Given the description of an element on the screen output the (x, y) to click on. 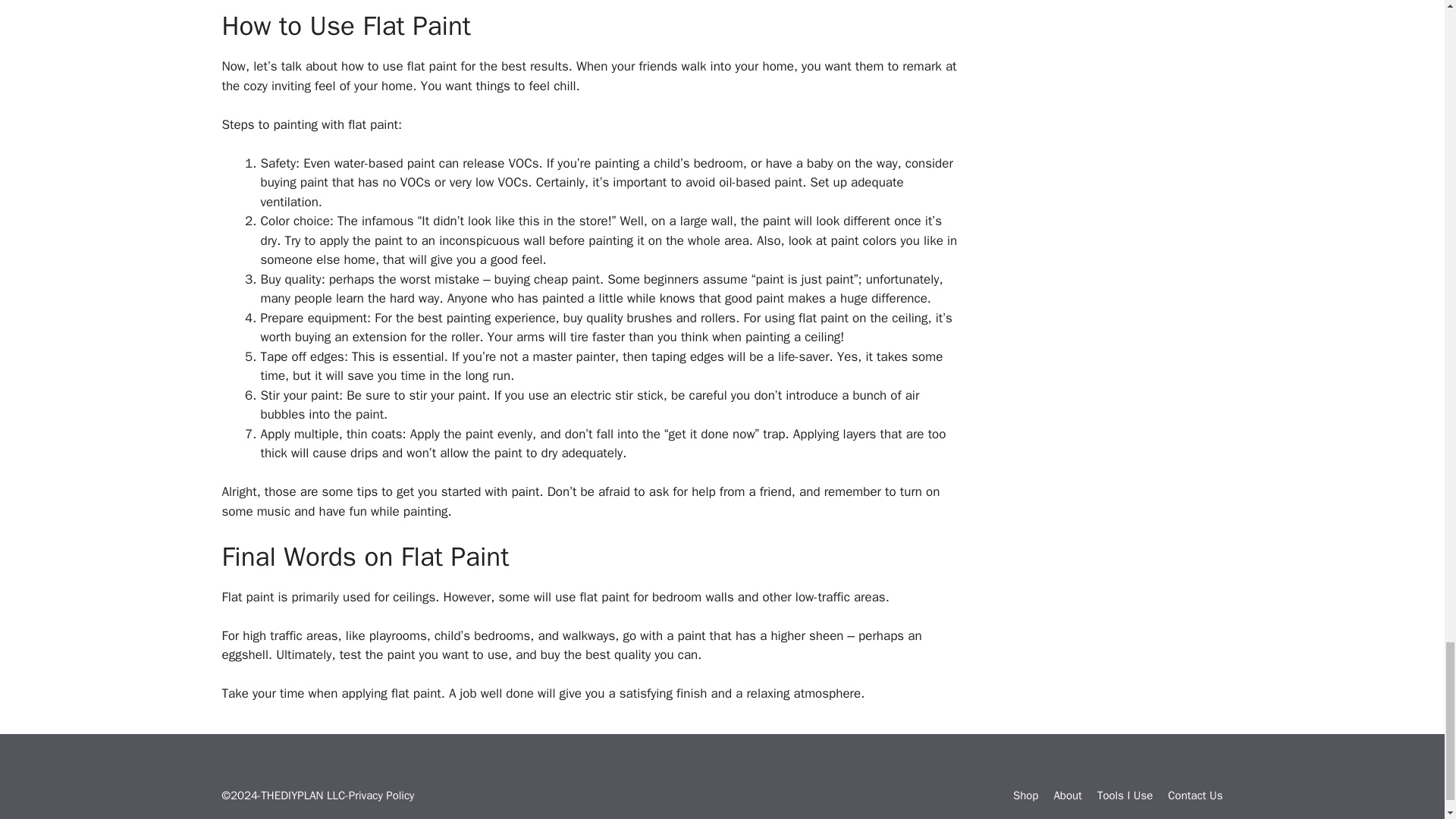
Shop (1026, 795)
